Given the description of an element on the screen output the (x, y) to click on. 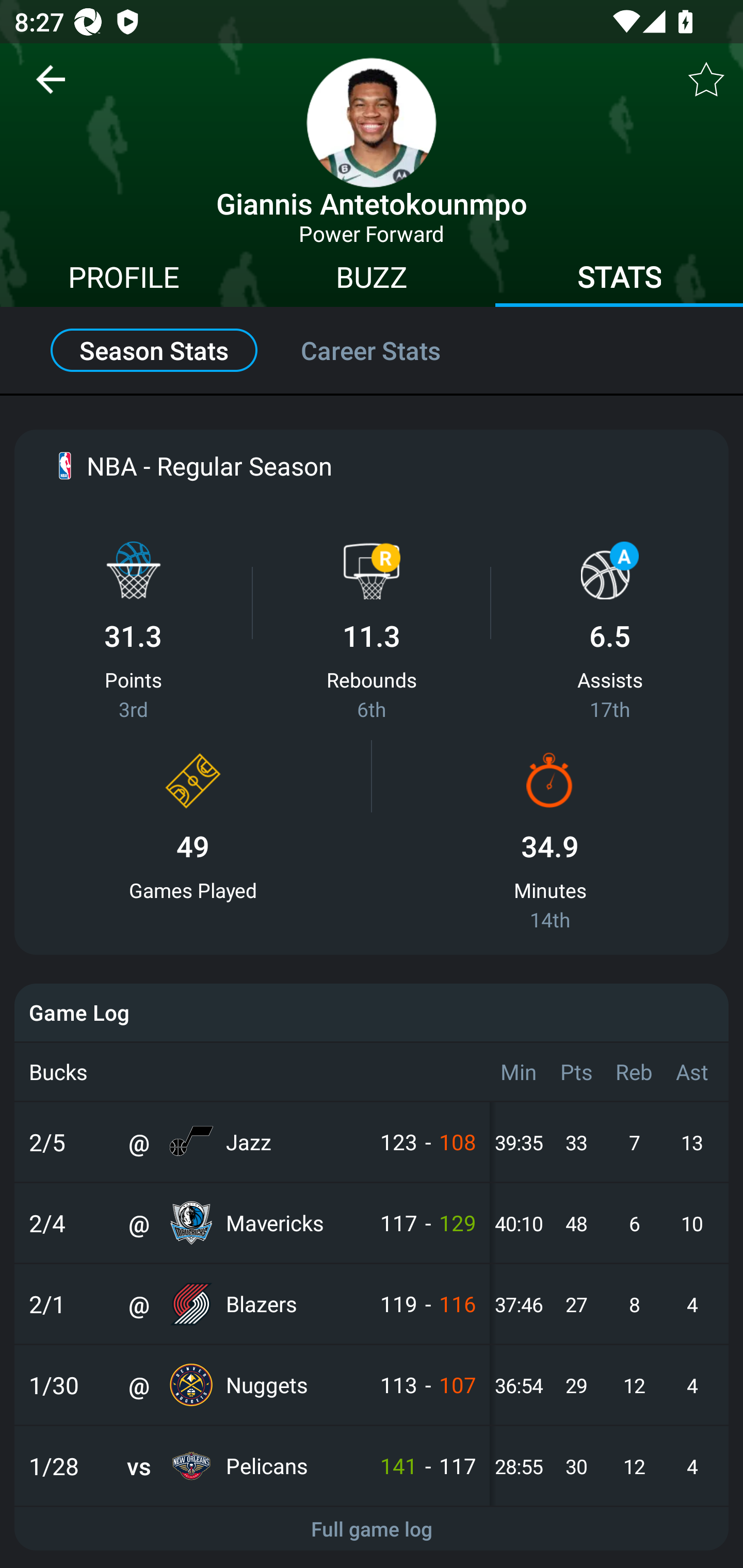
Navigate up (50, 86)
PROFILE (123, 279)
BUZZ (371, 279)
STATS (619, 279)
Career Stats (392, 350)
NBA - Regular Season (191, 465)
Game Log (371, 1012)
Bucks Min Pts Reb Ast Stl (371, 1071)
Min (518, 1071)
Pts (576, 1071)
Reb (633, 1071)
Ast (691, 1071)
2/5 @ Jazz 123 - 108 39:35 33 7 13 0 (371, 1142)
Jazz (294, 1142)
123 (397, 1142)
- (428, 1142)
108 (458, 1142)
2/4 @ Mavericks 117 - 129 40:10 48 6 10 5 (371, 1222)
Mavericks (294, 1222)
117 (397, 1222)
- (428, 1222)
129 (458, 1222)
2/1 @ Blazers 119 - 116 37:46 27 8 4 3 (371, 1303)
Blazers (294, 1303)
119 (397, 1303)
- (428, 1303)
116 (458, 1303)
1/30 @ Nuggets 113 - 107 36:54 29 12 4 1 (371, 1385)
Nuggets (294, 1385)
113 (397, 1385)
- (428, 1385)
107 (458, 1385)
1/28 vs Pelicans 141 - 117 28:55 30 12 4 2 (371, 1465)
Pelicans (294, 1465)
141 (397, 1465)
- (428, 1465)
117 (458, 1465)
Full game log (371, 1528)
